Given the description of an element on the screen output the (x, y) to click on. 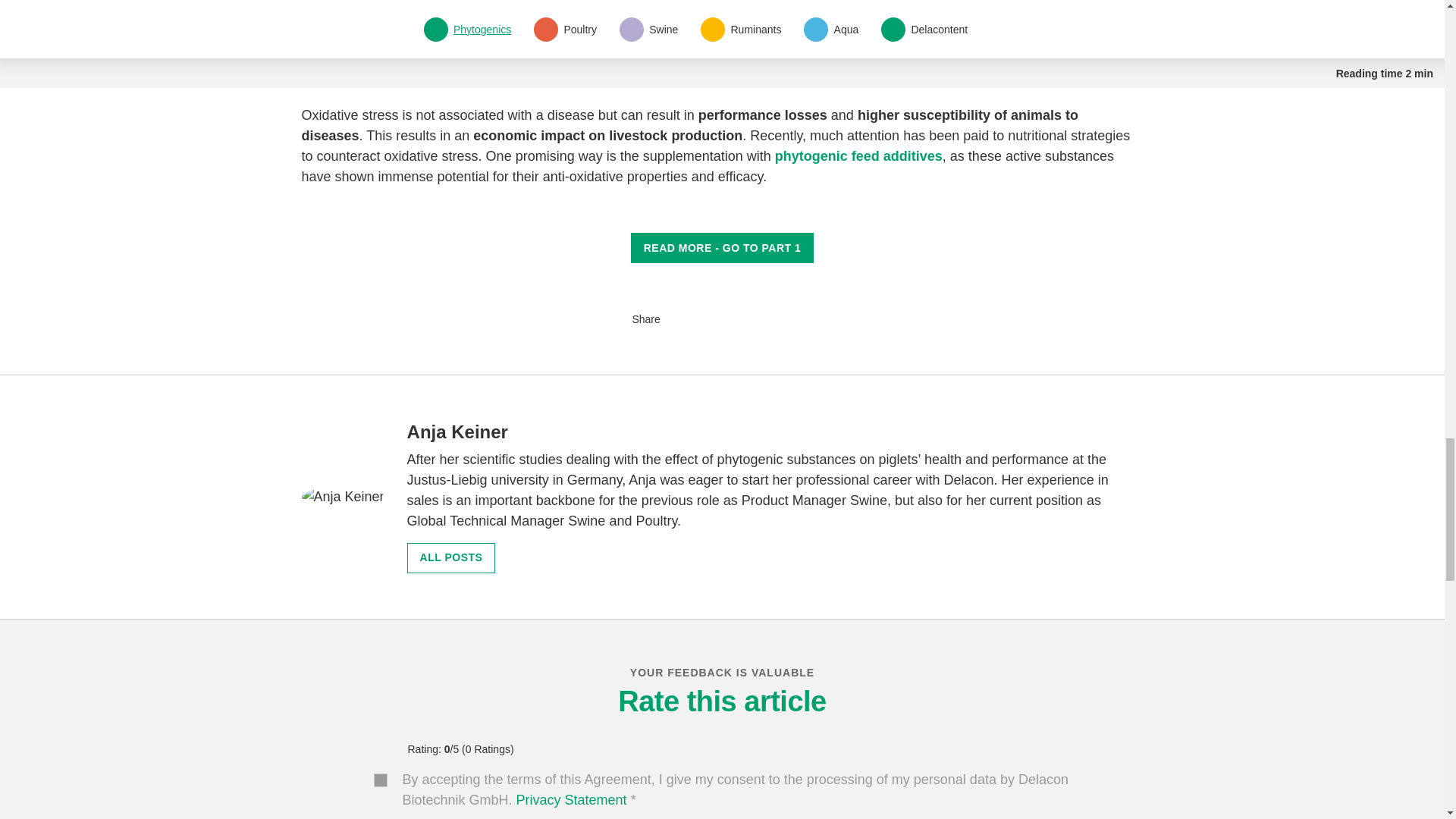
READ MORE - GO TO PART 1 (721, 247)
phytogenic feed additives (858, 155)
